Given the description of an element on the screen output the (x, y) to click on. 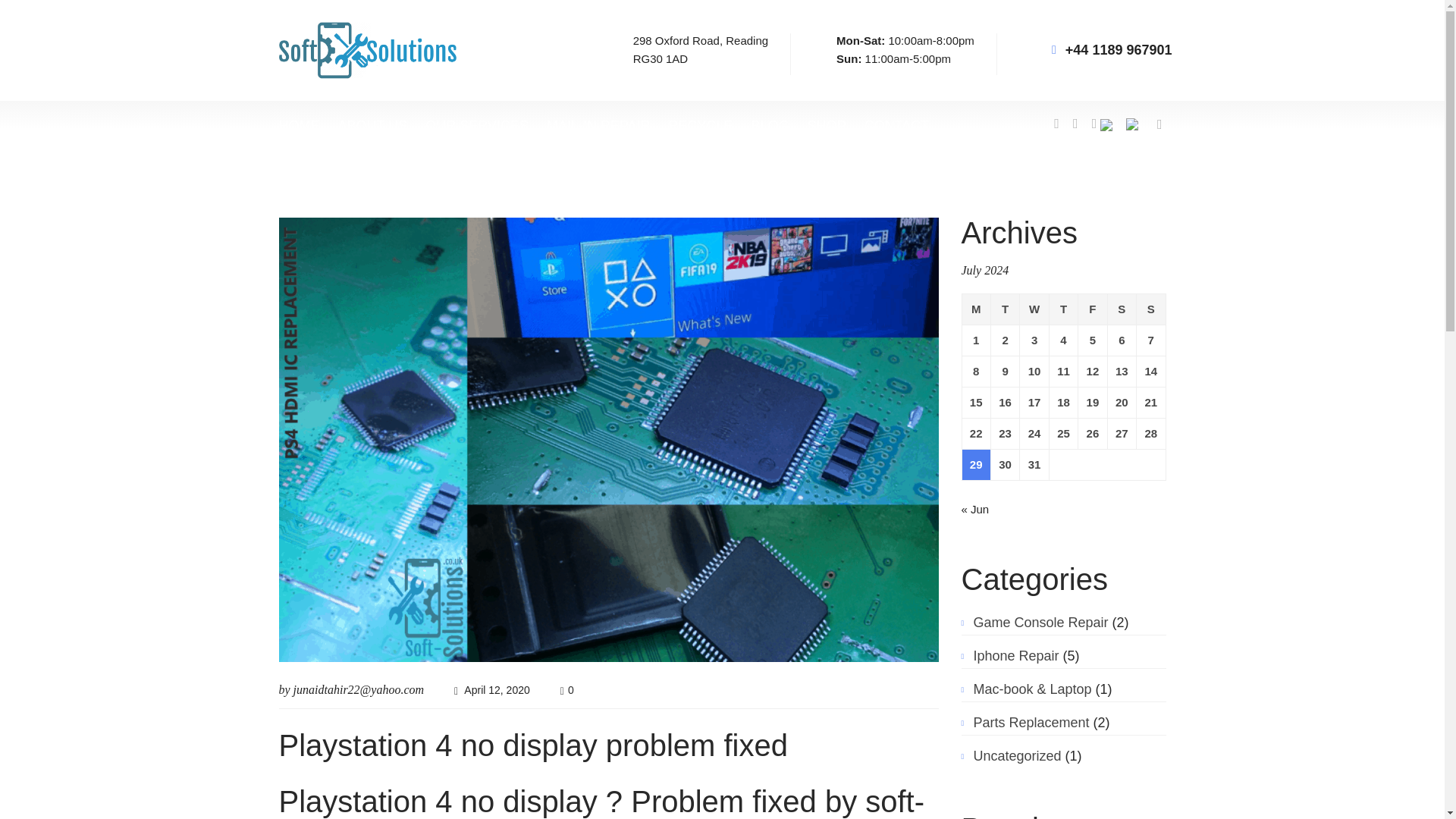
Game Console Repair (1041, 622)
MAIL-IN REPAIR (598, 123)
HOME (299, 123)
OUR SERVICES (476, 123)
Sunday (1151, 308)
CONTACT (897, 123)
Tuesday (1004, 308)
Monday (975, 308)
April 12, 2020 (496, 689)
ABOUT US (372, 123)
Iphone Repair (700, 49)
Friday (1016, 655)
Saturday (1092, 308)
RECYCLE (1120, 308)
